Given the description of an element on the screen output the (x, y) to click on. 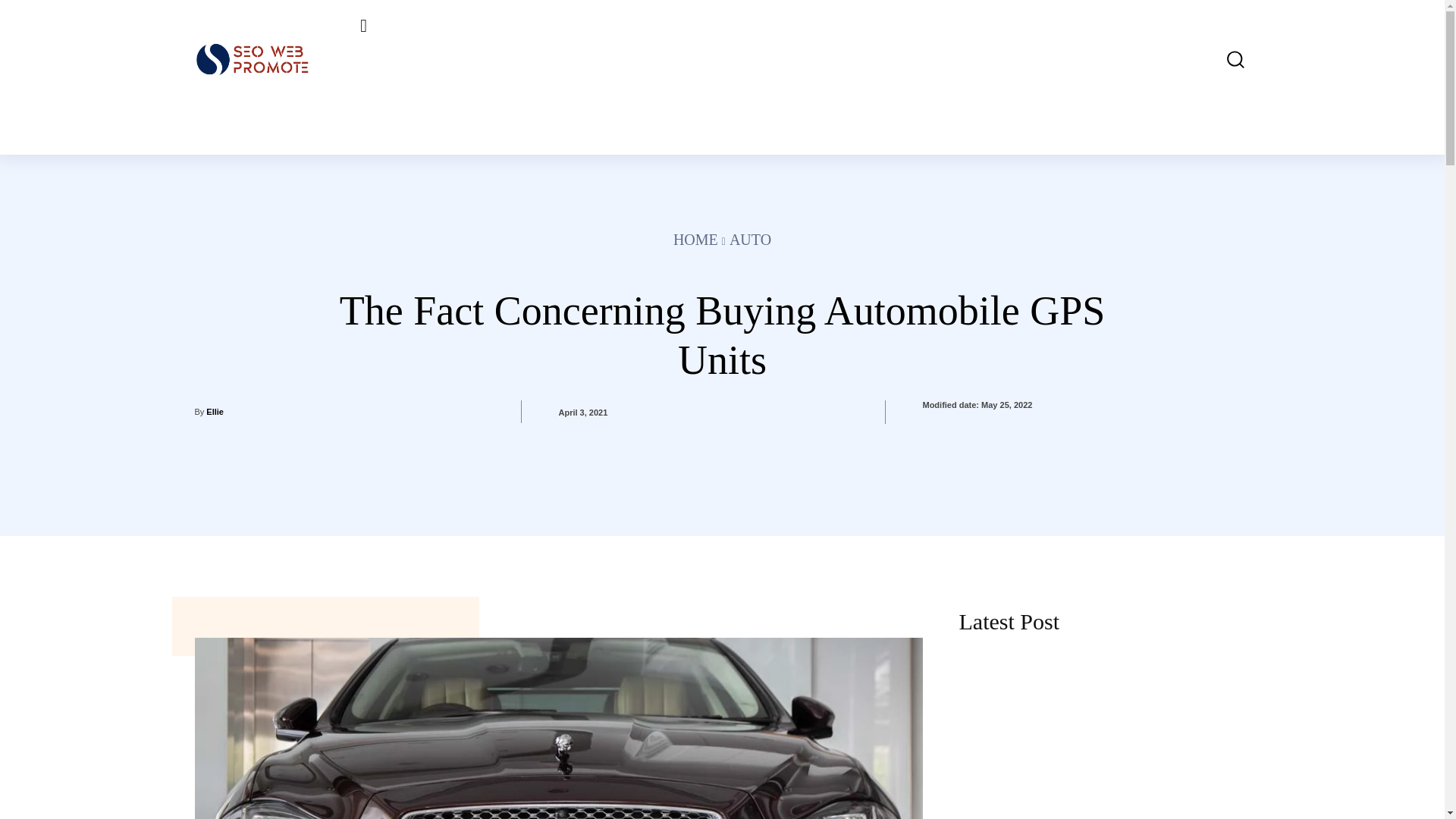
View all posts in Auto (750, 239)
